Given the description of an element on the screen output the (x, y) to click on. 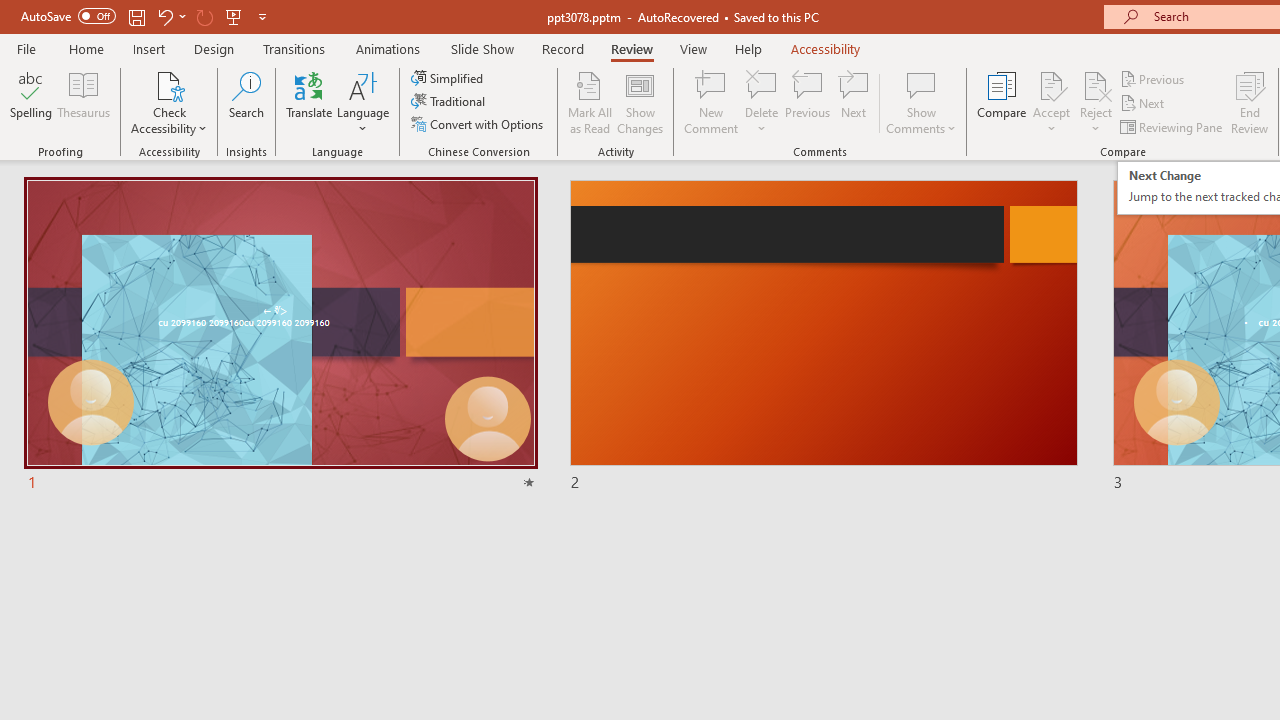
Thesaurus... (83, 102)
End Review (1249, 102)
Language (363, 102)
Compare (1002, 102)
Next (1144, 103)
Simplified (449, 78)
